Given the description of an element on the screen output the (x, y) to click on. 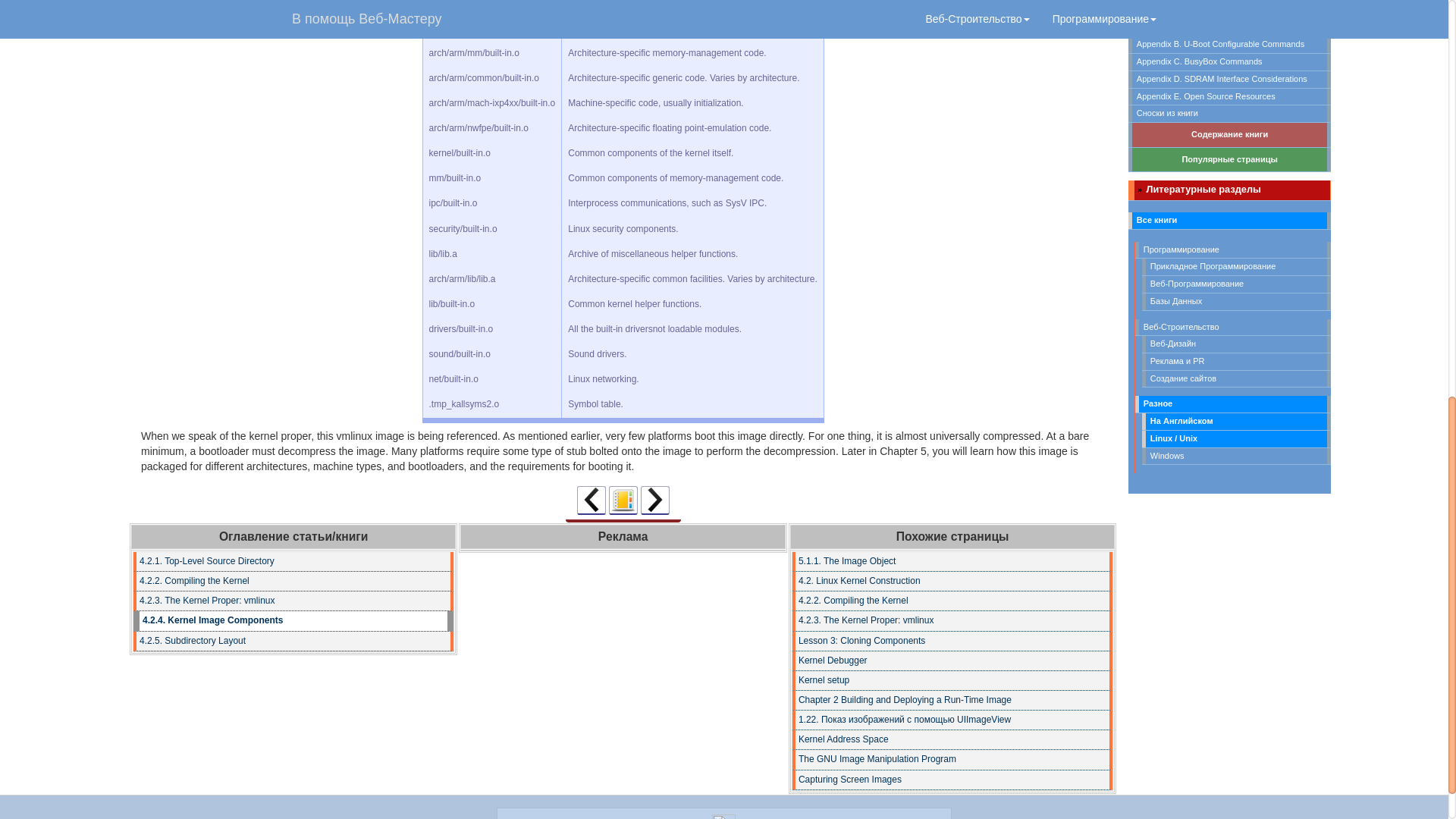
The GNU Image Manipulation Program (952, 759)
4.2.5. Subdirectory Layout (292, 641)
4.2.1. Top-Level Source Directory (292, 561)
4.2.3. The Kernel Proper: vmlinux (952, 620)
Lesson 3: Cloning Components (952, 641)
Kernel Debugger (952, 660)
5.1.1. The Image Object (952, 561)
5.1.1. The Image Object (952, 561)
Kernel Address Space (952, 740)
4.2.5. Subdirectory Layout (654, 500)
4.2.3. The Kernel Proper: vmlinux (590, 500)
4.2.2. Compiling the Kernel (952, 600)
4.2.3. The Kernel Proper: vmlinux (292, 600)
Kernel setup (952, 680)
4.2. Linux Kernel Construction (952, 581)
